Given the description of an element on the screen output the (x, y) to click on. 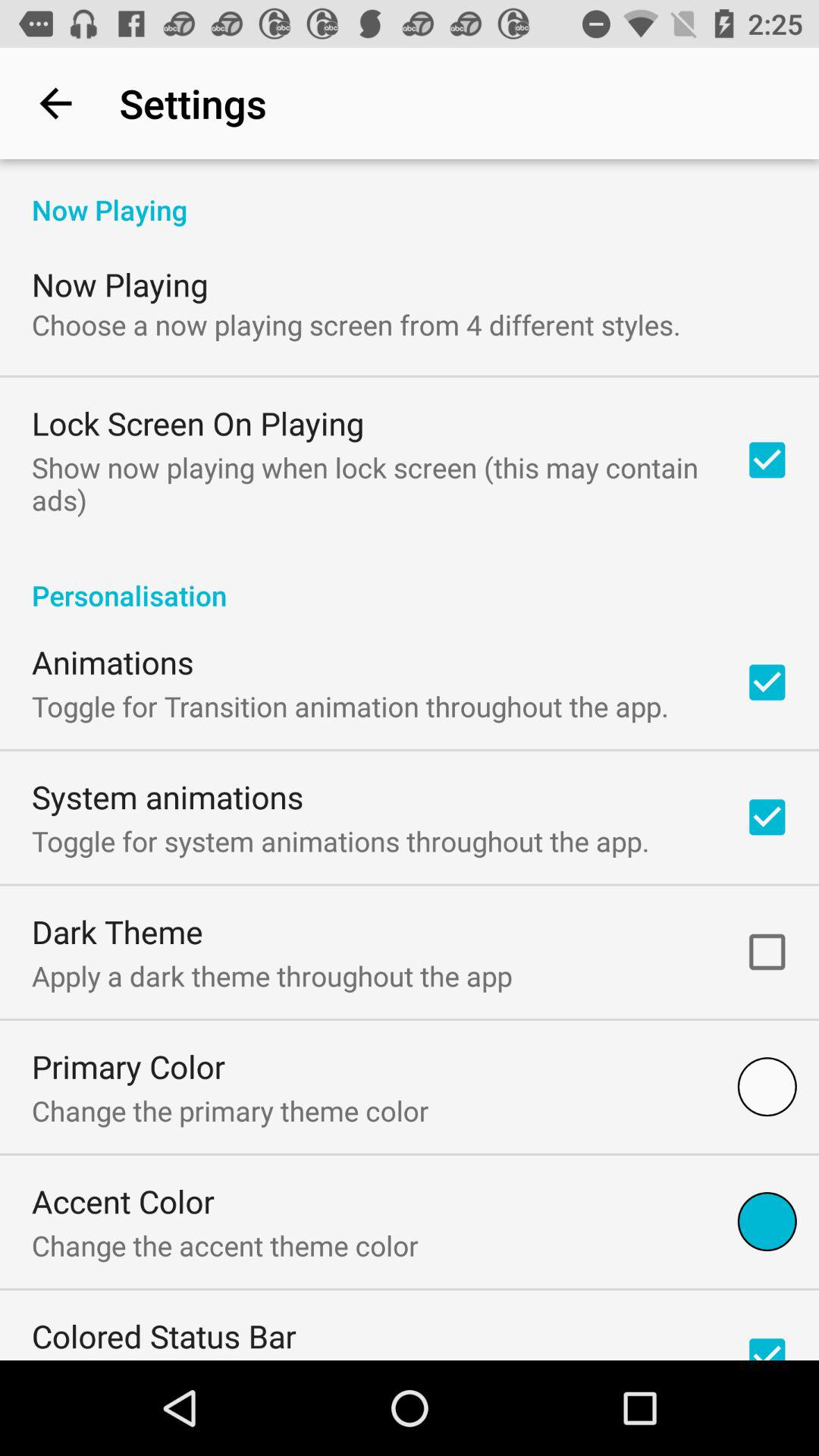
press choose a now icon (355, 324)
